Given the description of an element on the screen output the (x, y) to click on. 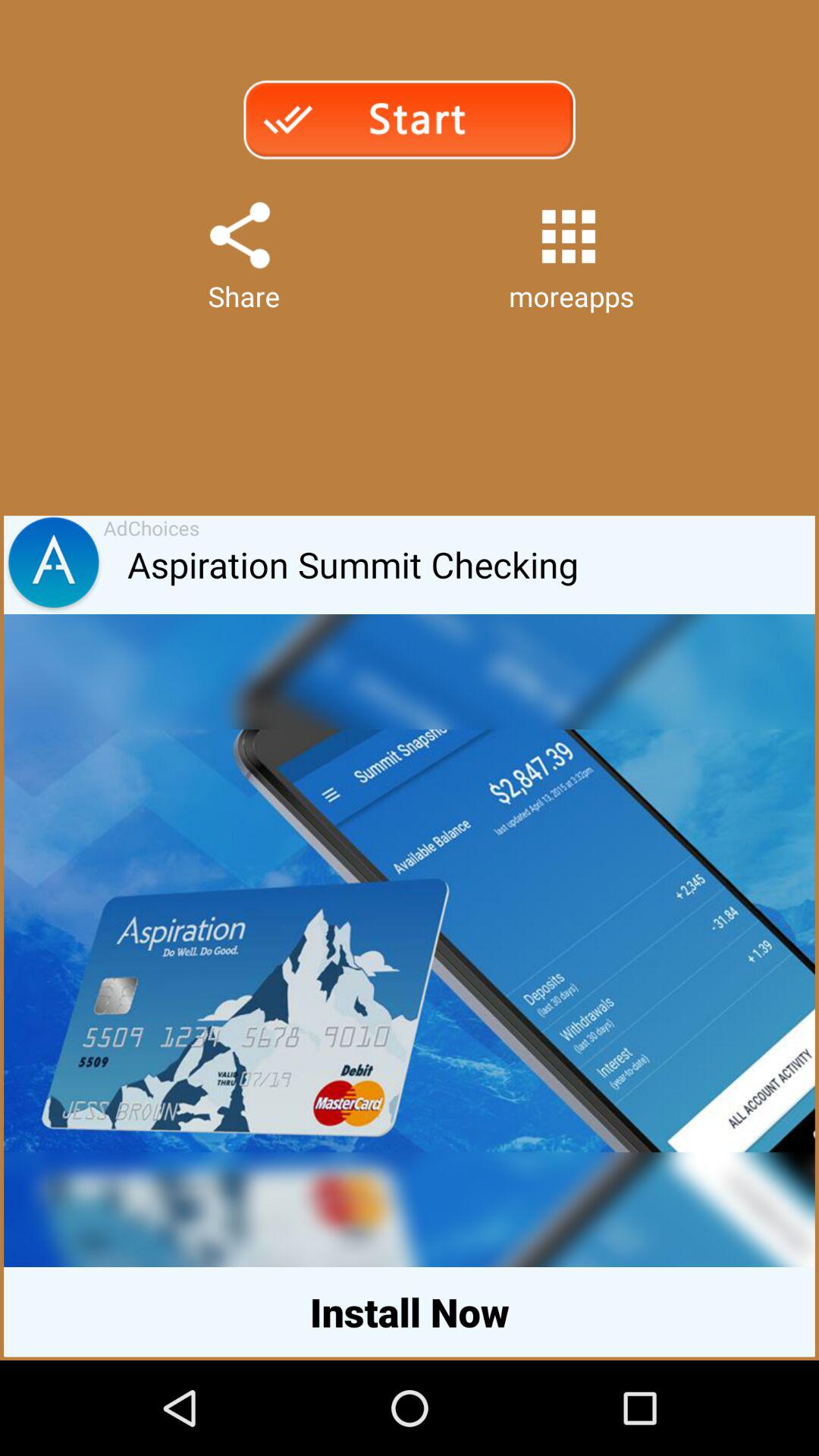
press the icon below share item (471, 564)
